Given the description of an element on the screen output the (x, y) to click on. 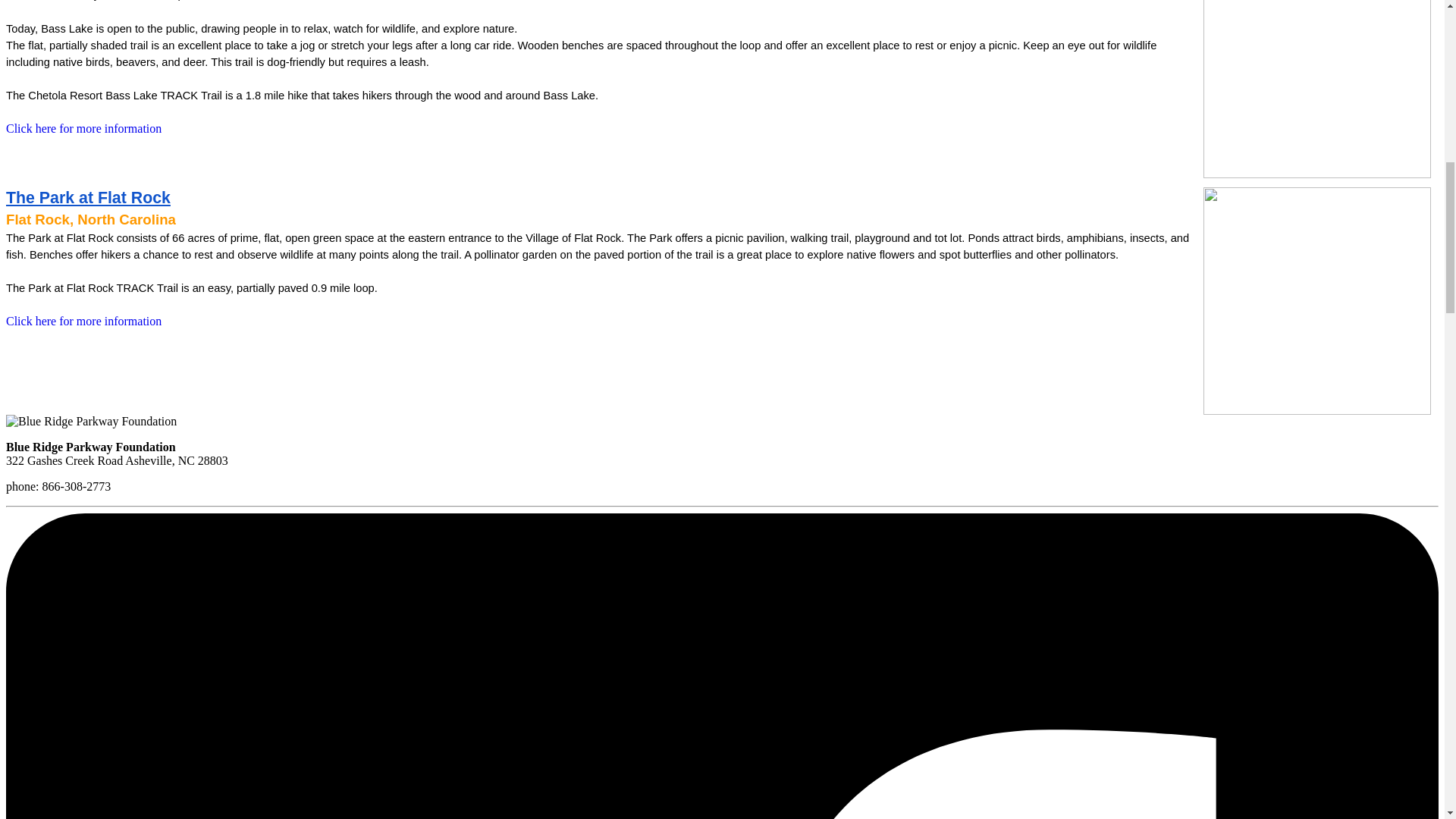
The Park at Flat Rock (87, 198)
Click here for more information (83, 320)
Click here for more information (83, 128)
